Given the description of an element on the screen output the (x, y) to click on. 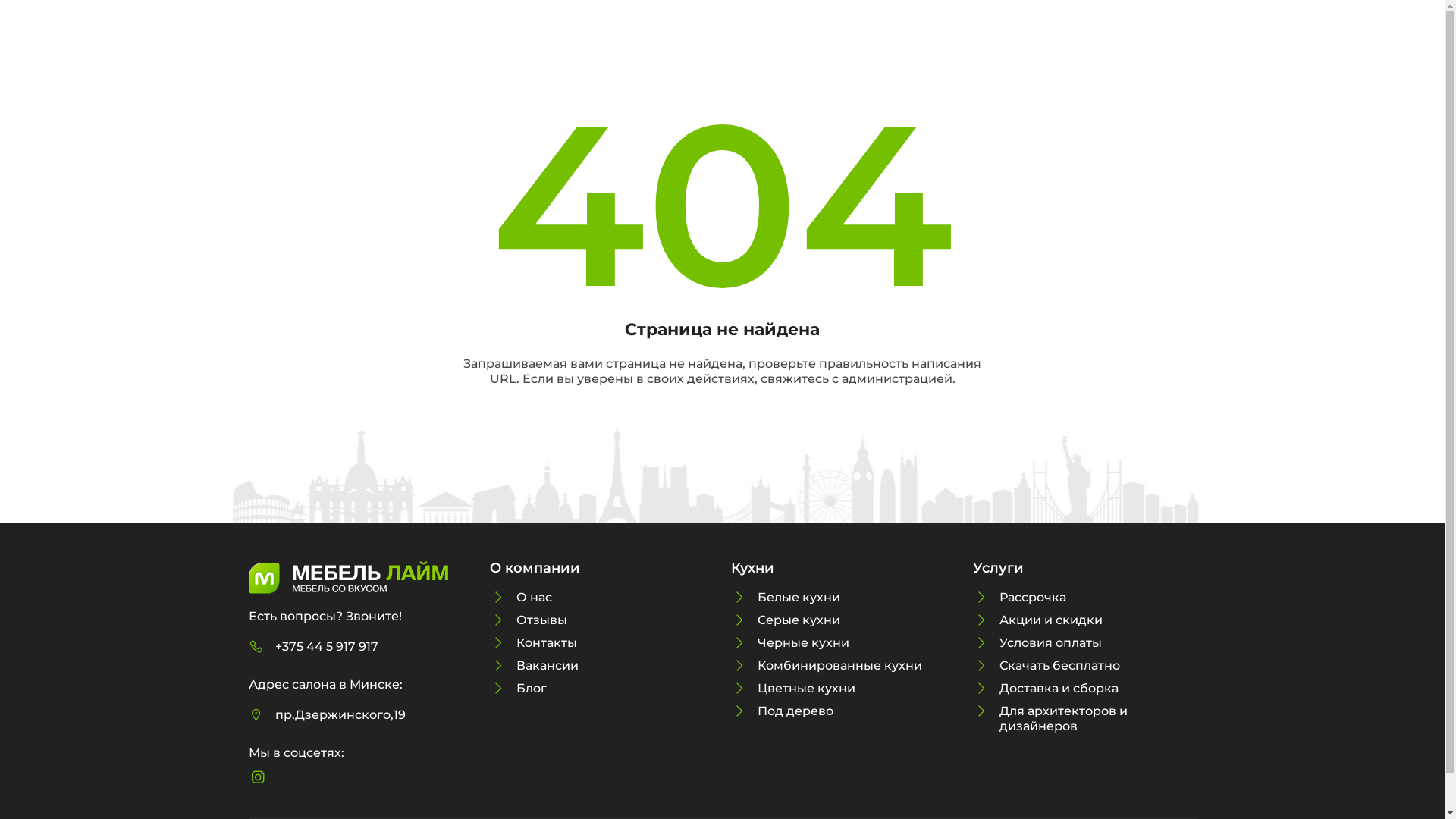
+375 44 5 917 917 Element type: text (325, 646)
